Given the description of an element on the screen output the (x, y) to click on. 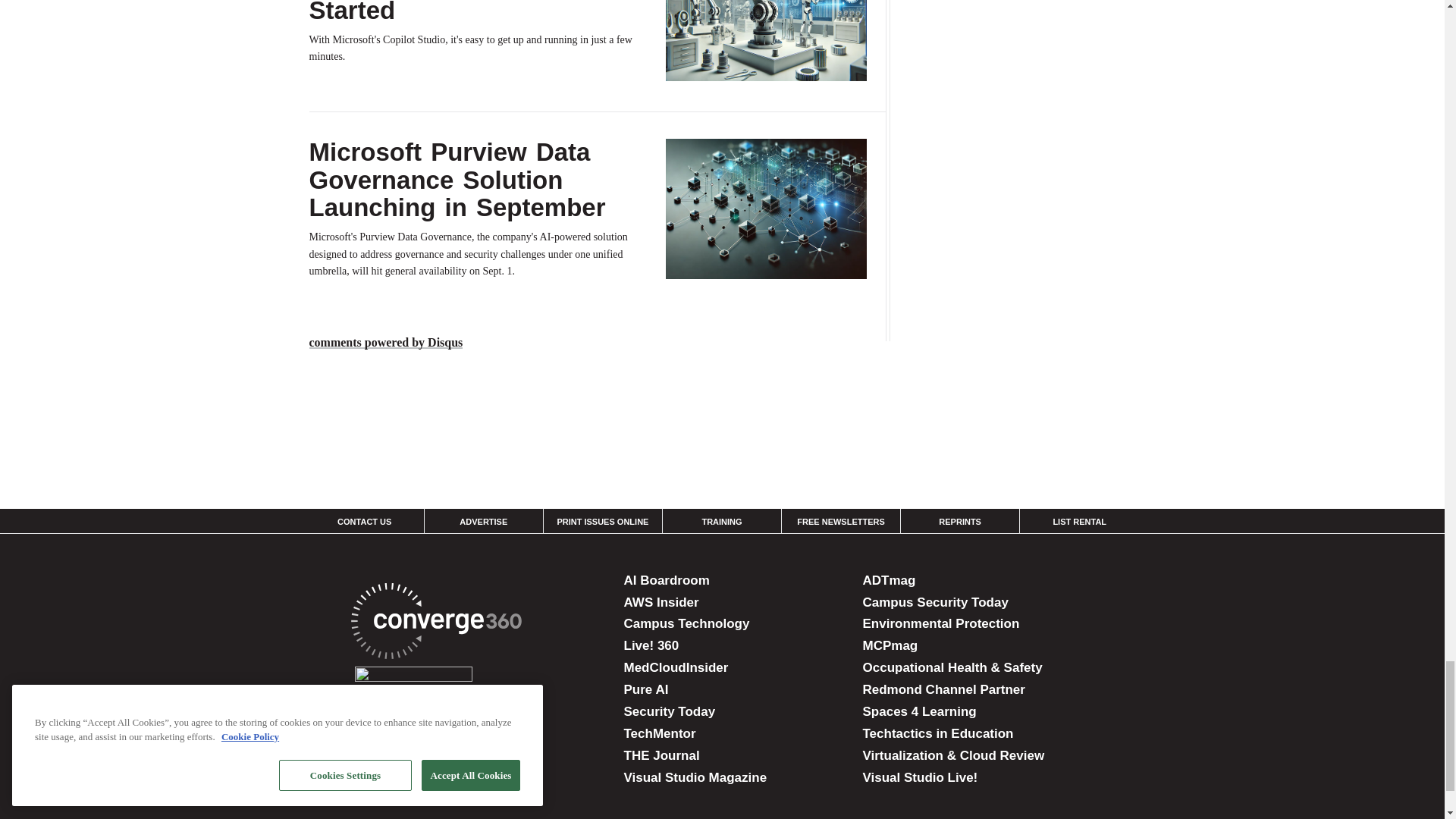
3rd party ad content (1021, 2)
3rd party ad content (721, 451)
